Given the description of an element on the screen output the (x, y) to click on. 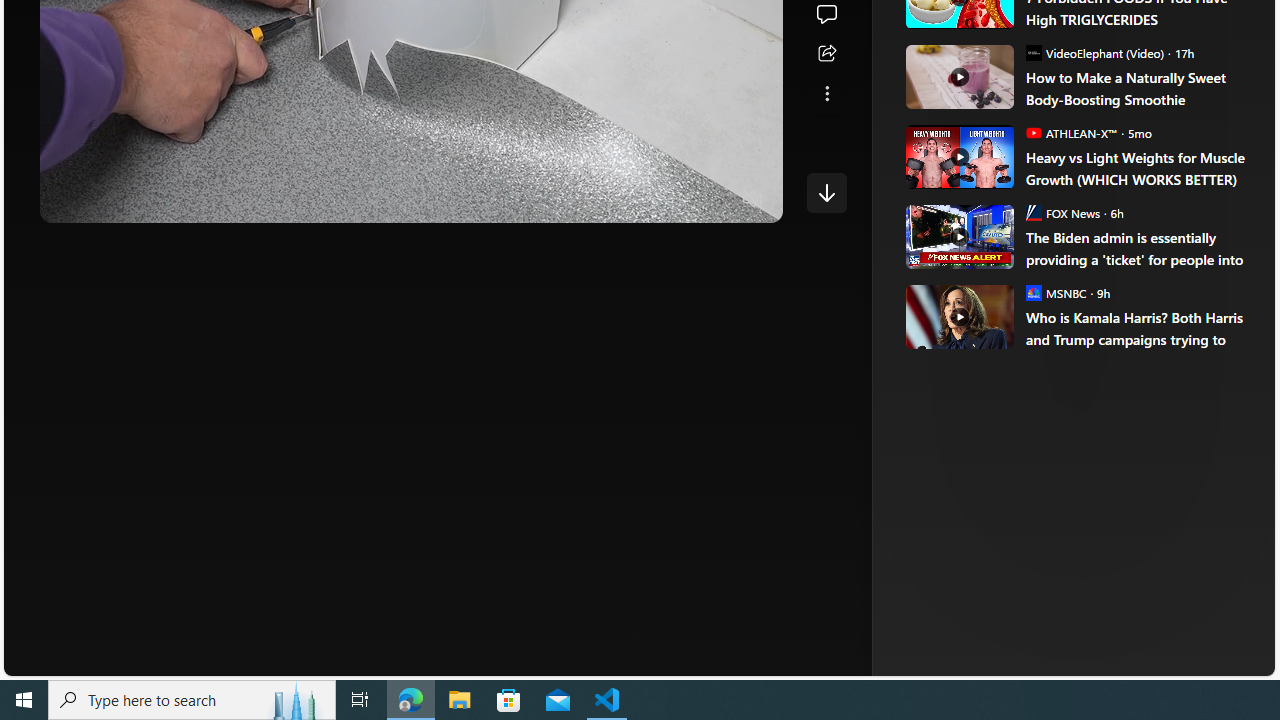
Progress Bar (411, 174)
How to Make a Naturally Sweet Body-Boosting Smoothie (958, 75)
MSNBC (1033, 291)
VideoElephant (Video) (1033, 52)
Fullscreen (714, 200)
FOX News FOX News (1062, 212)
Summer Sale! Up to -55% (1084, 284)
Share this story (826, 53)
How to Make a Naturally Sweet Body-Boosting Smoothie (1136, 88)
Seek Forward (150, 200)
